Given the description of an element on the screen output the (x, y) to click on. 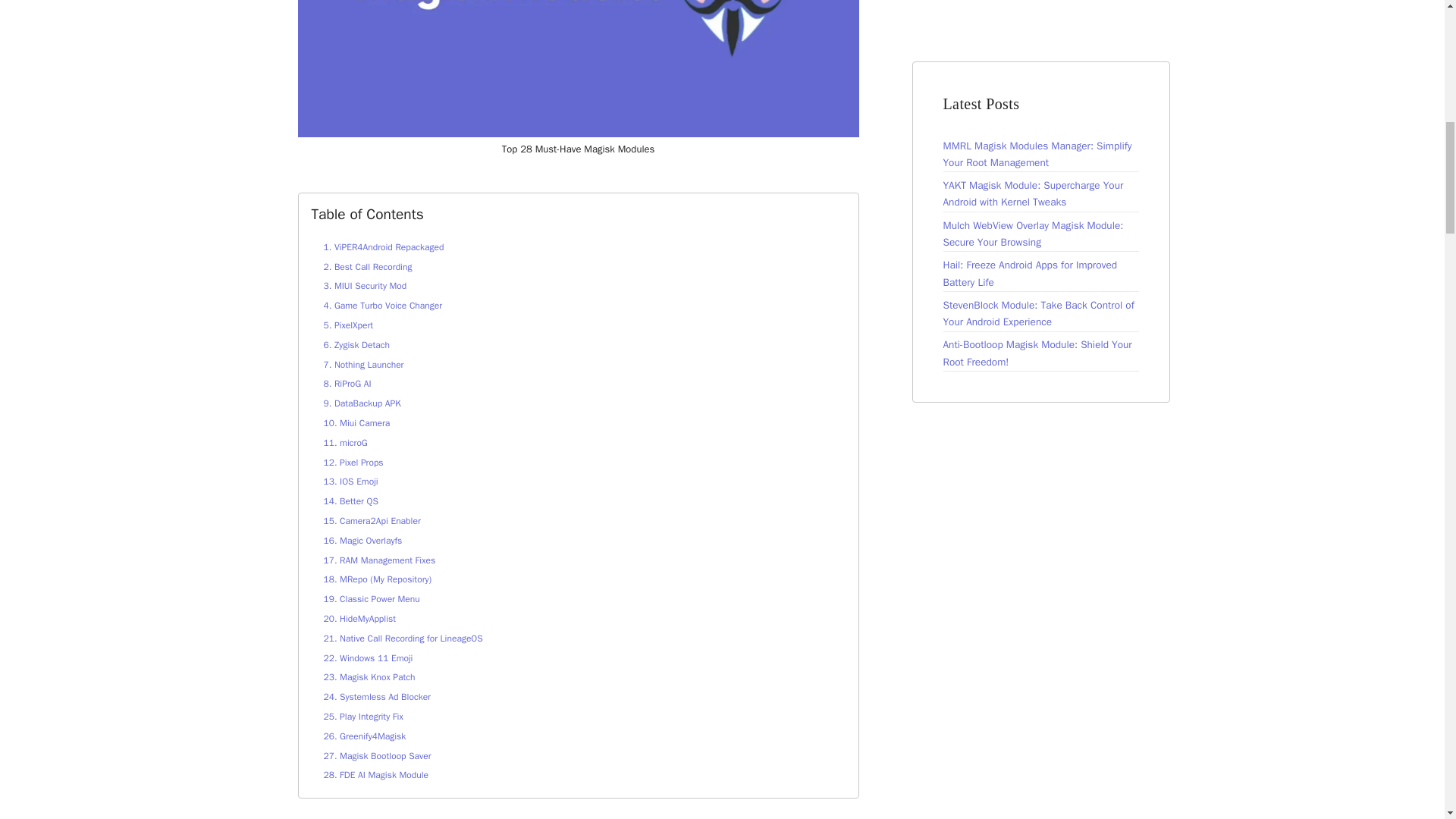
24. Systemless Ad Blocker (376, 696)
8. RiProG AI (347, 383)
13. IOS Emoji (350, 481)
4. Game Turbo Voice Changer (382, 305)
19. Classic Power Menu (371, 598)
23. Magisk Knox Patch (368, 676)
12. Pixel Props (352, 462)
25. Play Integrity Fix (363, 716)
6. Zygisk Detach (356, 345)
15. Camera2Api Enabler (371, 521)
